Given the description of an element on the screen output the (x, y) to click on. 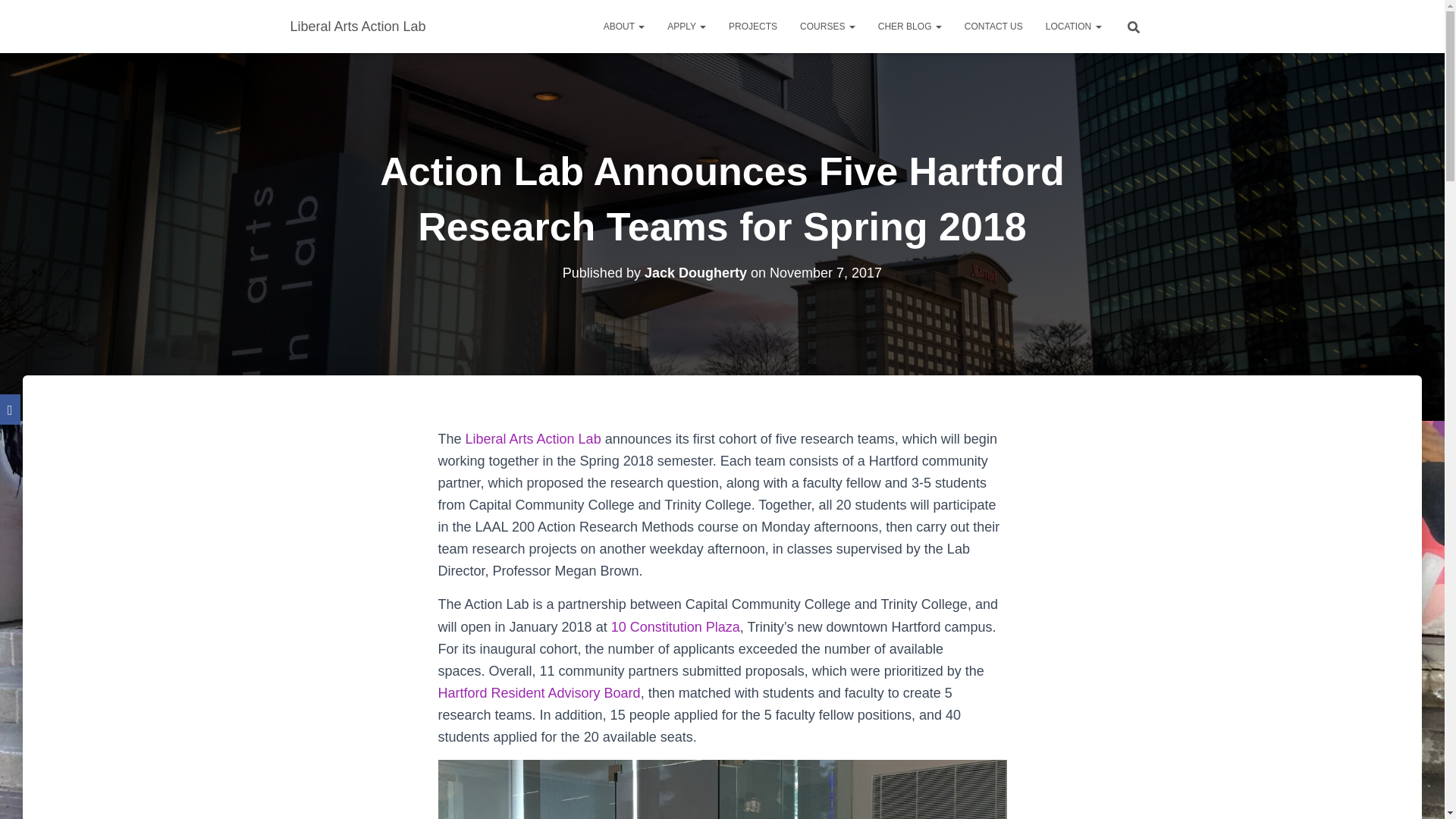
Hartford Resident Advisory Board (539, 693)
Projects (753, 26)
ABOUT (624, 26)
Courses (827, 26)
10 Constitution Plaza (675, 626)
APPLY (686, 26)
Liberal Arts Action Lab (358, 26)
CONTACT US (993, 26)
COURSES (827, 26)
CHER BLOG (909, 26)
